Given the description of an element on the screen output the (x, y) to click on. 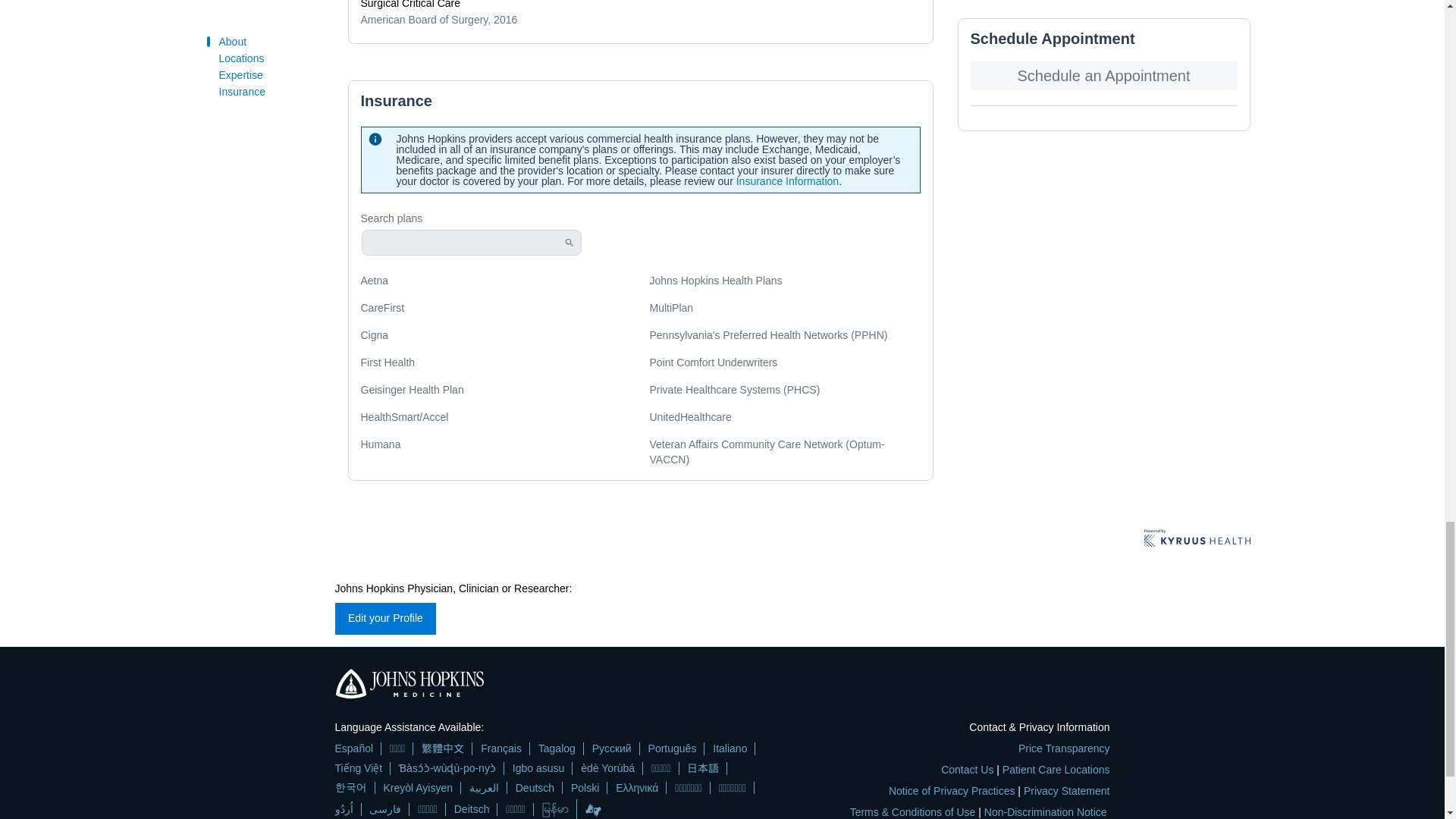
Igbo asusu (538, 768)
Deutsch (534, 787)
Tagalog (556, 748)
Edit your Profile (385, 618)
Insurance Information (787, 181)
Italiano (729, 748)
